Given the description of an element on the screen output the (x, y) to click on. 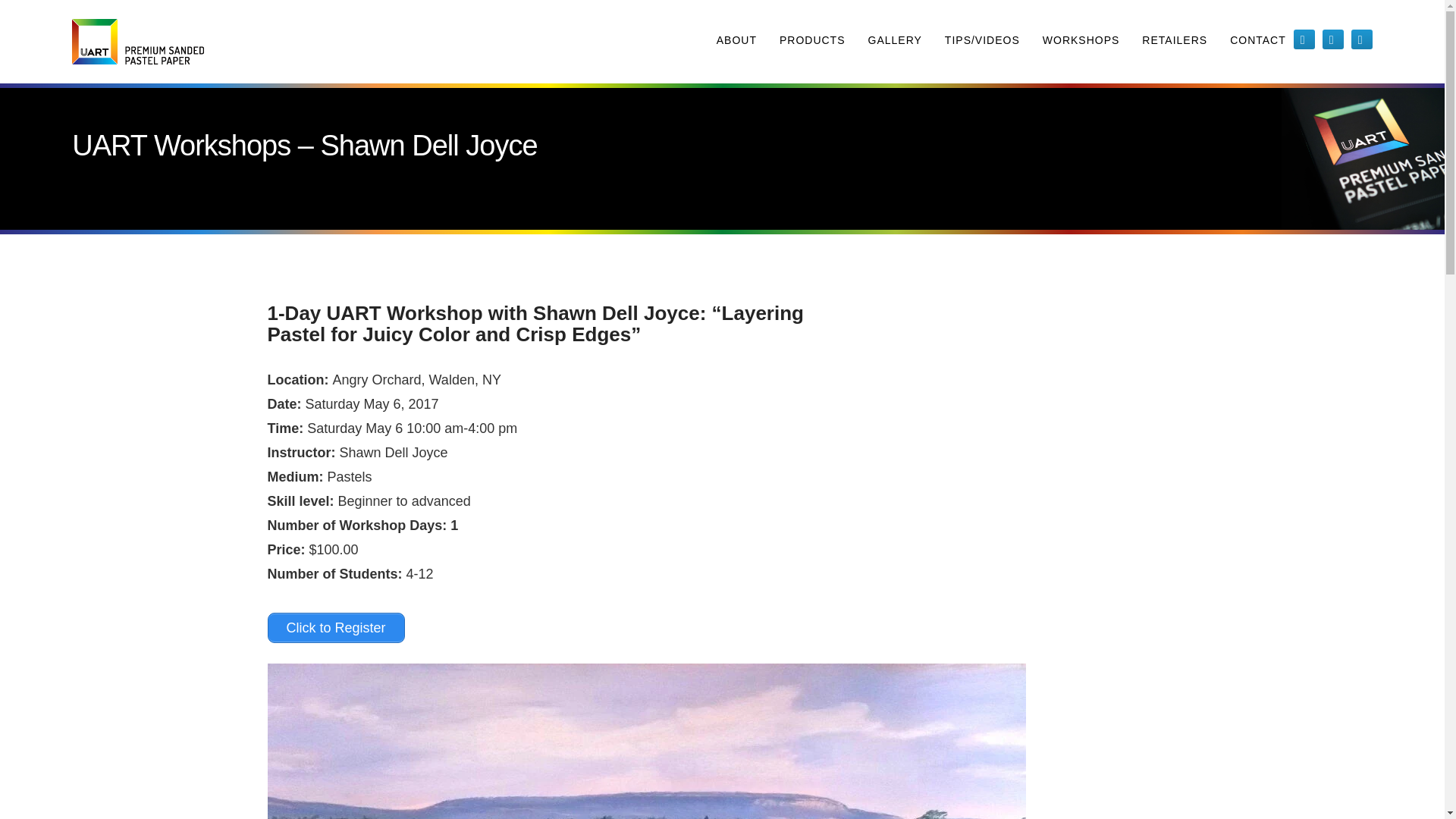
UART Premium Sanded Pastel Paper (137, 41)
RETAILERS (1174, 41)
CONTACT (1257, 41)
ABOUT (736, 41)
Click to Register (335, 627)
PRODUCTS (811, 41)
GALLERY (894, 41)
WORKSHOPS (1080, 41)
